Given the description of an element on the screen output the (x, y) to click on. 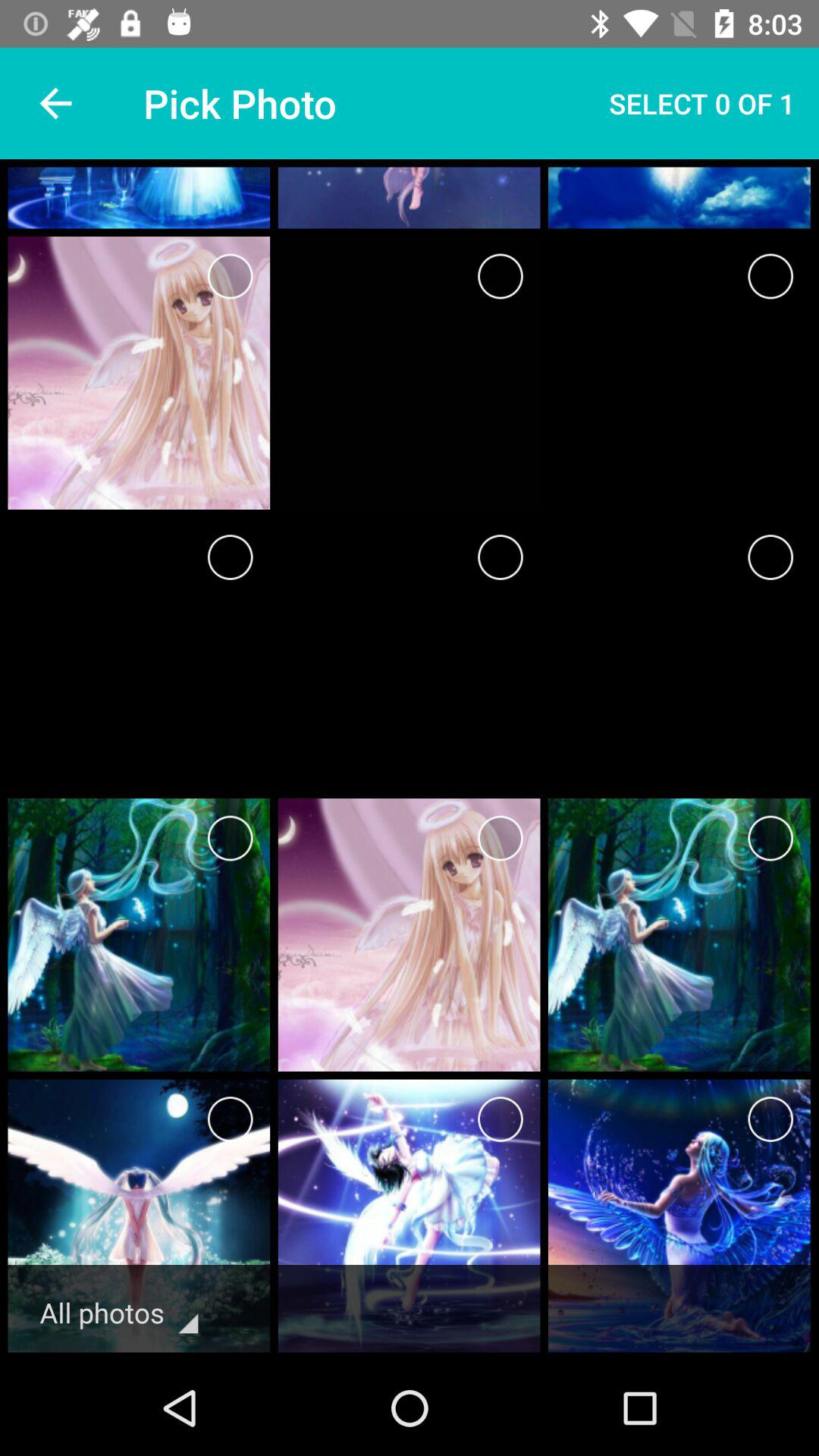
select photo (500, 1119)
